Given the description of an element on the screen output the (x, y) to click on. 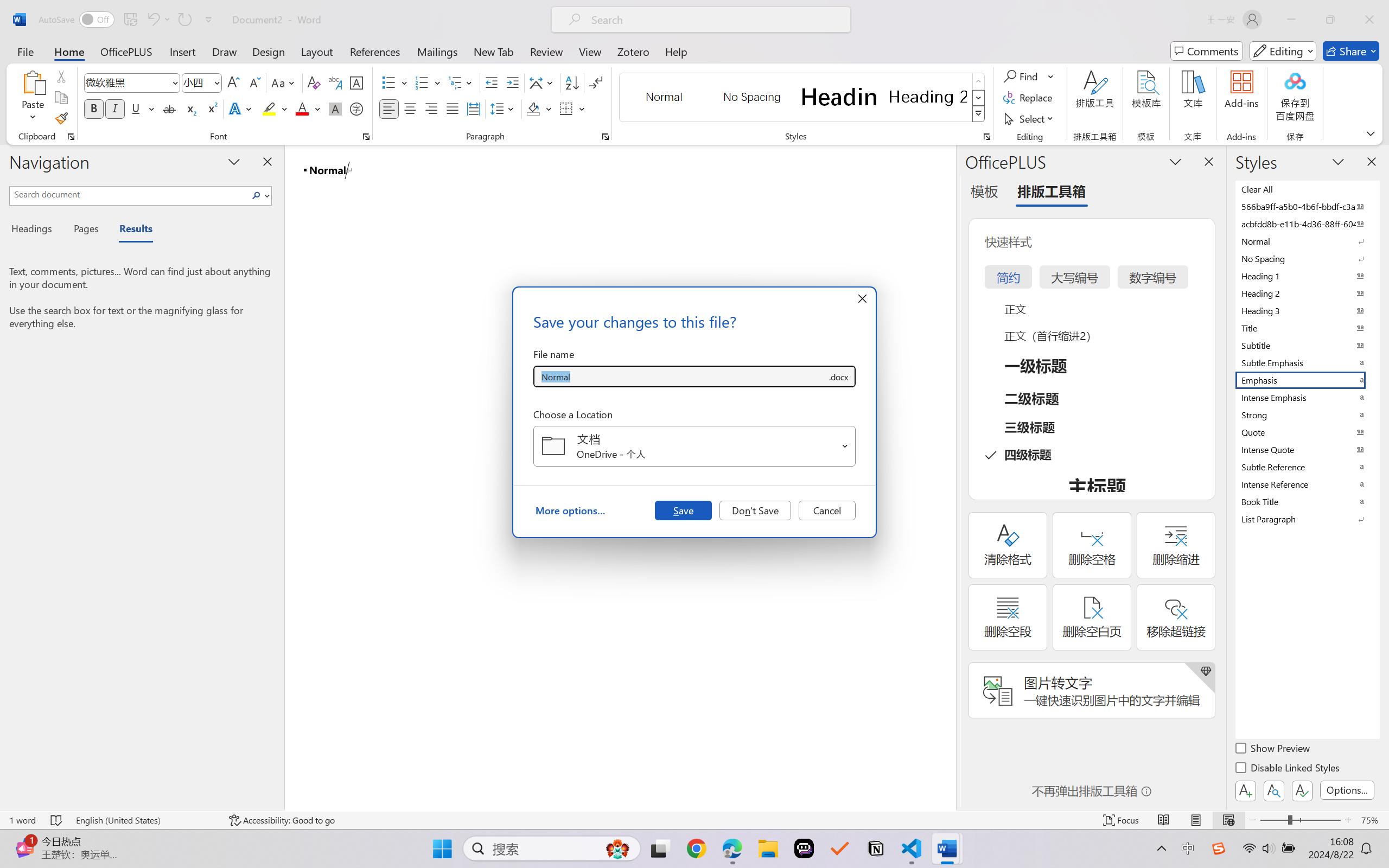
Character Border (356, 82)
Comments (1206, 50)
Find (1029, 75)
Ribbon Display Options (1370, 132)
File Tab (24, 51)
Notion (875, 848)
Multilevel List (461, 82)
Copy (60, 97)
Headings (35, 229)
acbfdd8b-e11b-4d36-88ff-6049b138f862 (1306, 223)
